Given the description of an element on the screen output the (x, y) to click on. 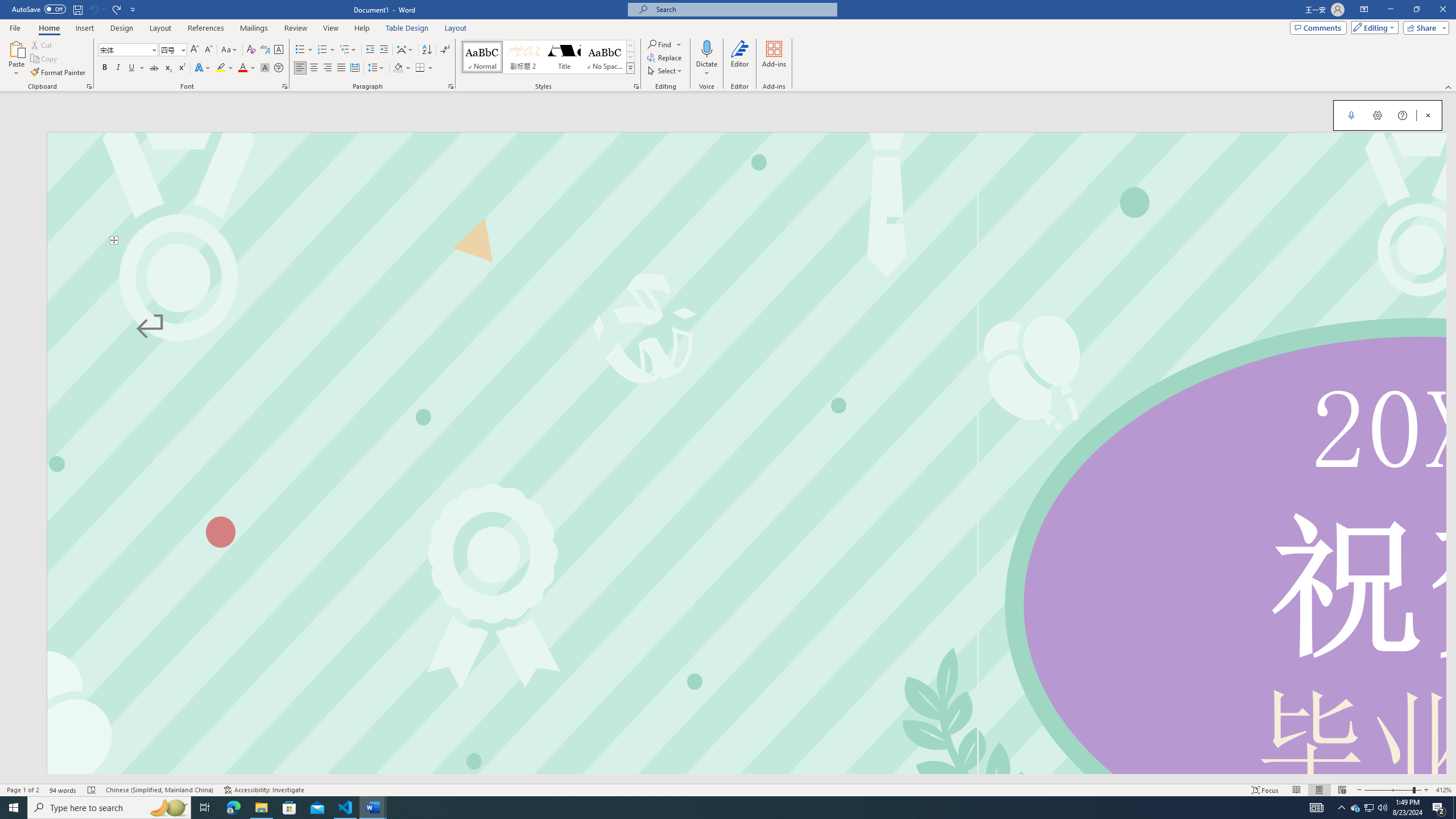
Redo Text Fill Effect (117, 9)
Center (313, 67)
Character Border (278, 49)
Collapse the Ribbon (1448, 86)
Sort... (426, 49)
Paragraph... (450, 85)
Find (664, 44)
Text Highlight Color Yellow (220, 67)
Row up (630, 45)
Shading (402, 67)
System (6, 6)
Asian Layout (405, 49)
Zoom Out (1388, 790)
